Given the description of an element on the screen output the (x, y) to click on. 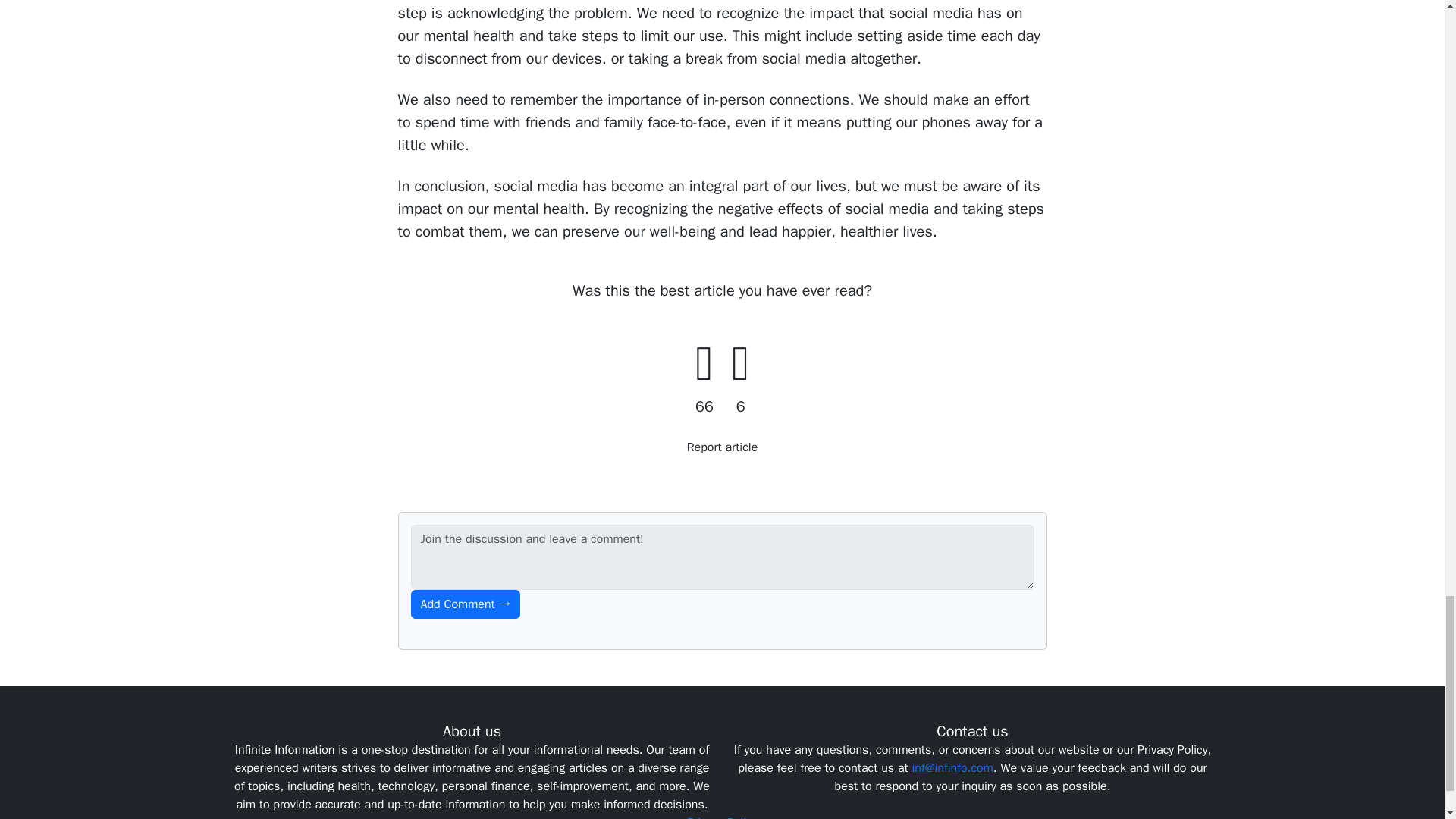
Privacy Policy (722, 816)
